Given the description of an element on the screen output the (x, y) to click on. 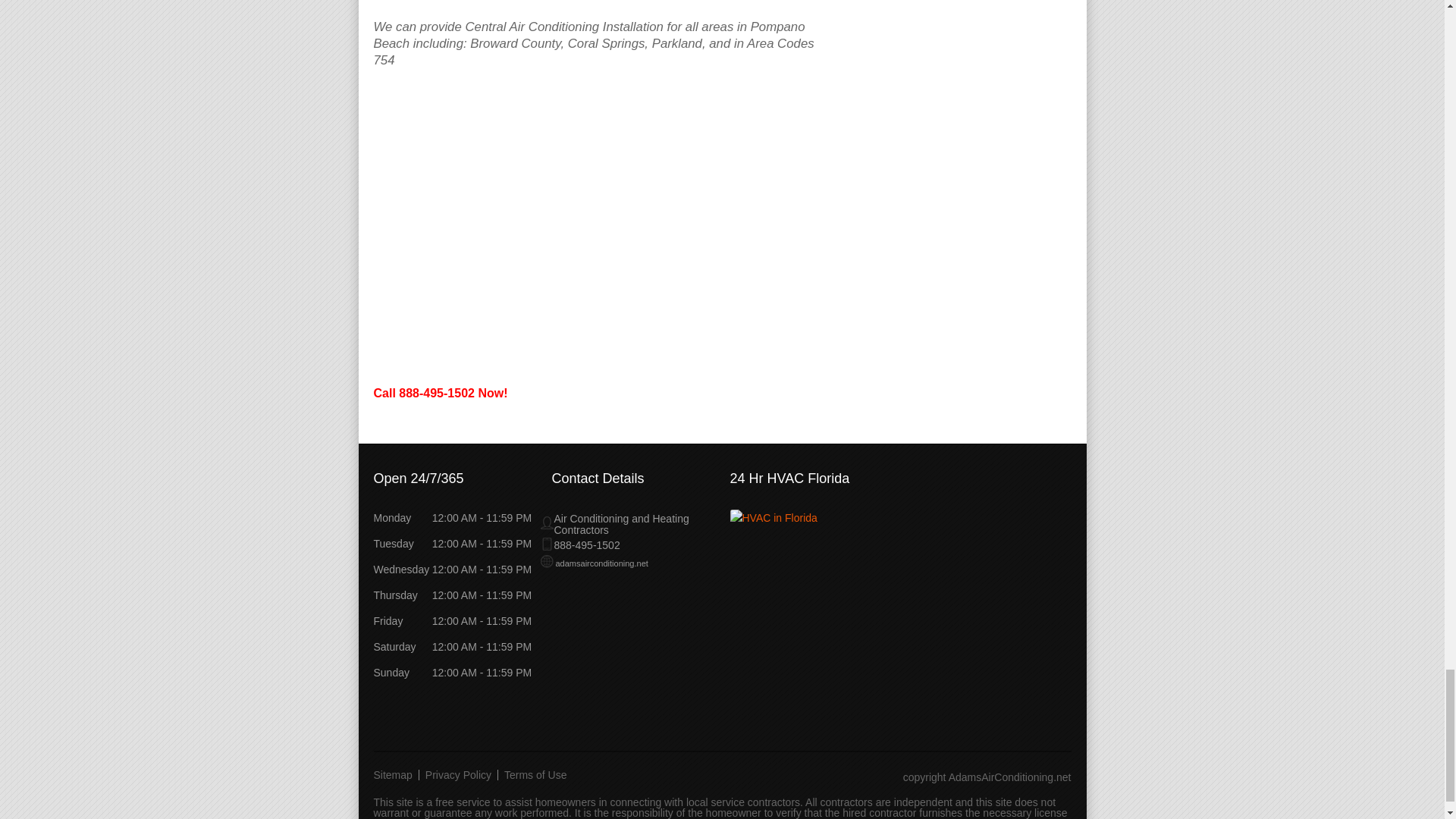
Terms of Use (534, 774)
adamsairconditioning.net (593, 563)
Sitemap (395, 774)
Call 888-495-1502 Now! (439, 392)
Privacy Policy (458, 774)
Call 888-495-1502 Now! (439, 0)
